Given the description of an element on the screen output the (x, y) to click on. 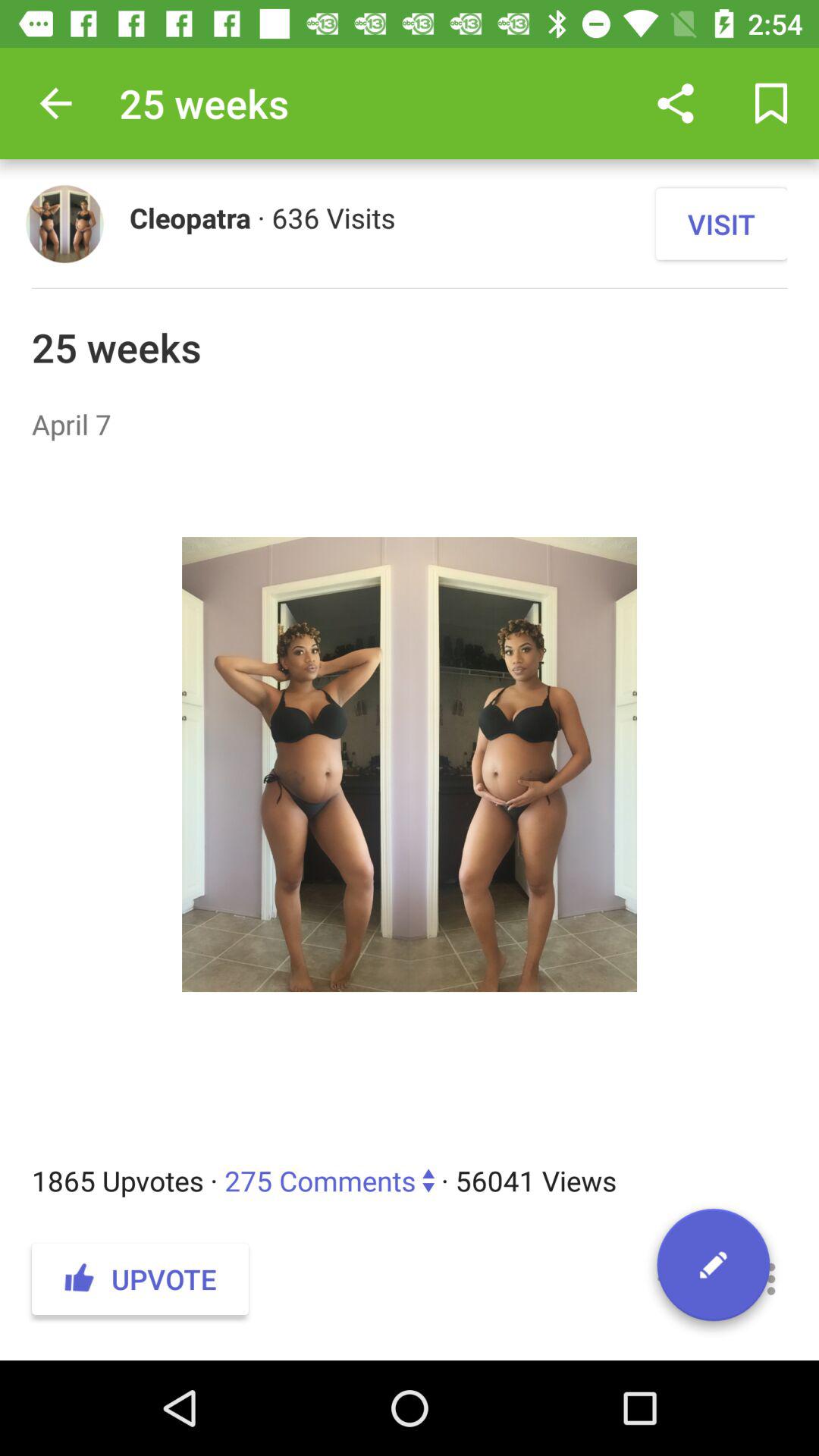
click app to the right of 25 weeks app (675, 103)
